Given the description of an element on the screen output the (x, y) to click on. 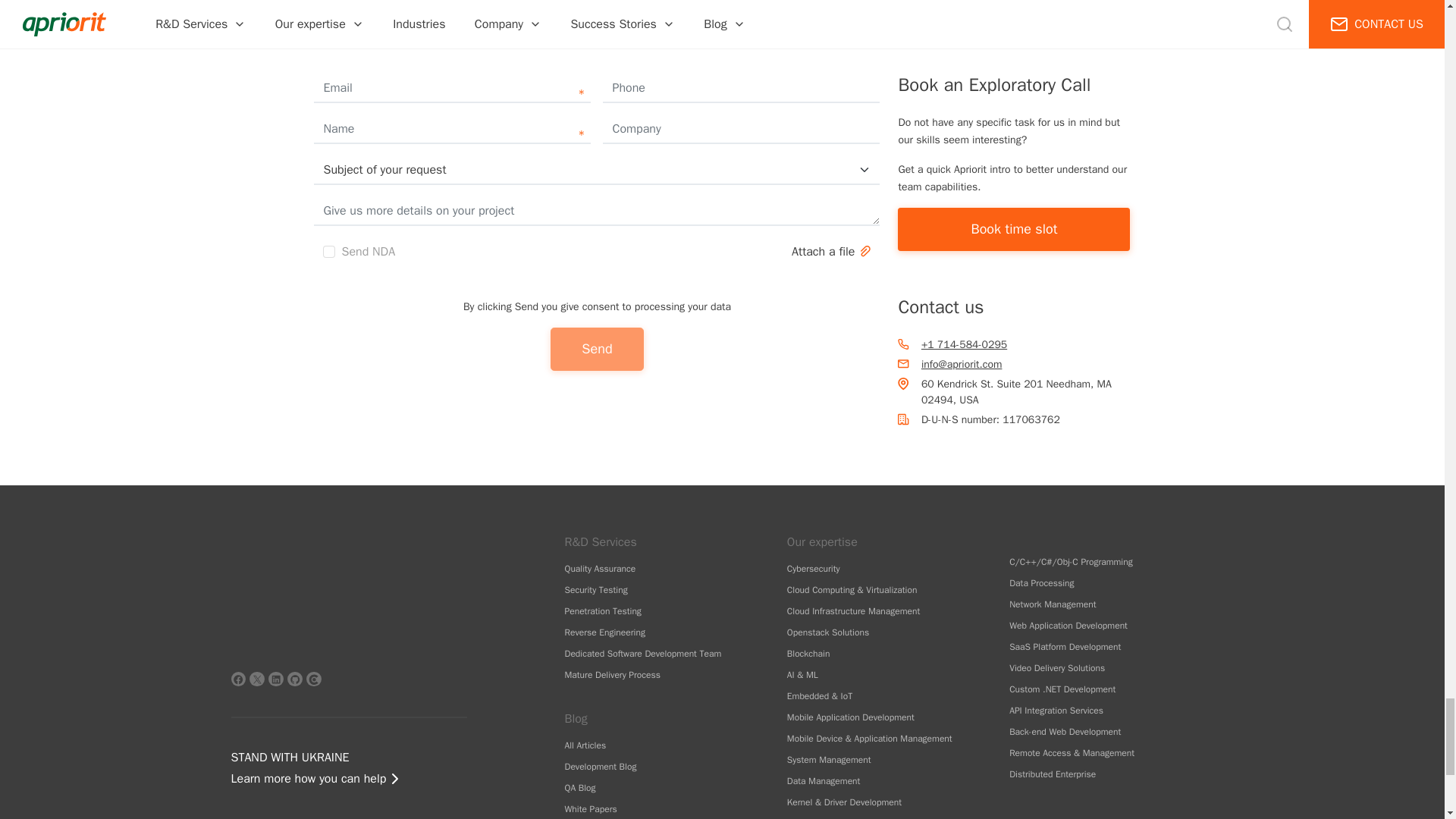
on (328, 251)
